Given the description of an element on the screen output the (x, y) to click on. 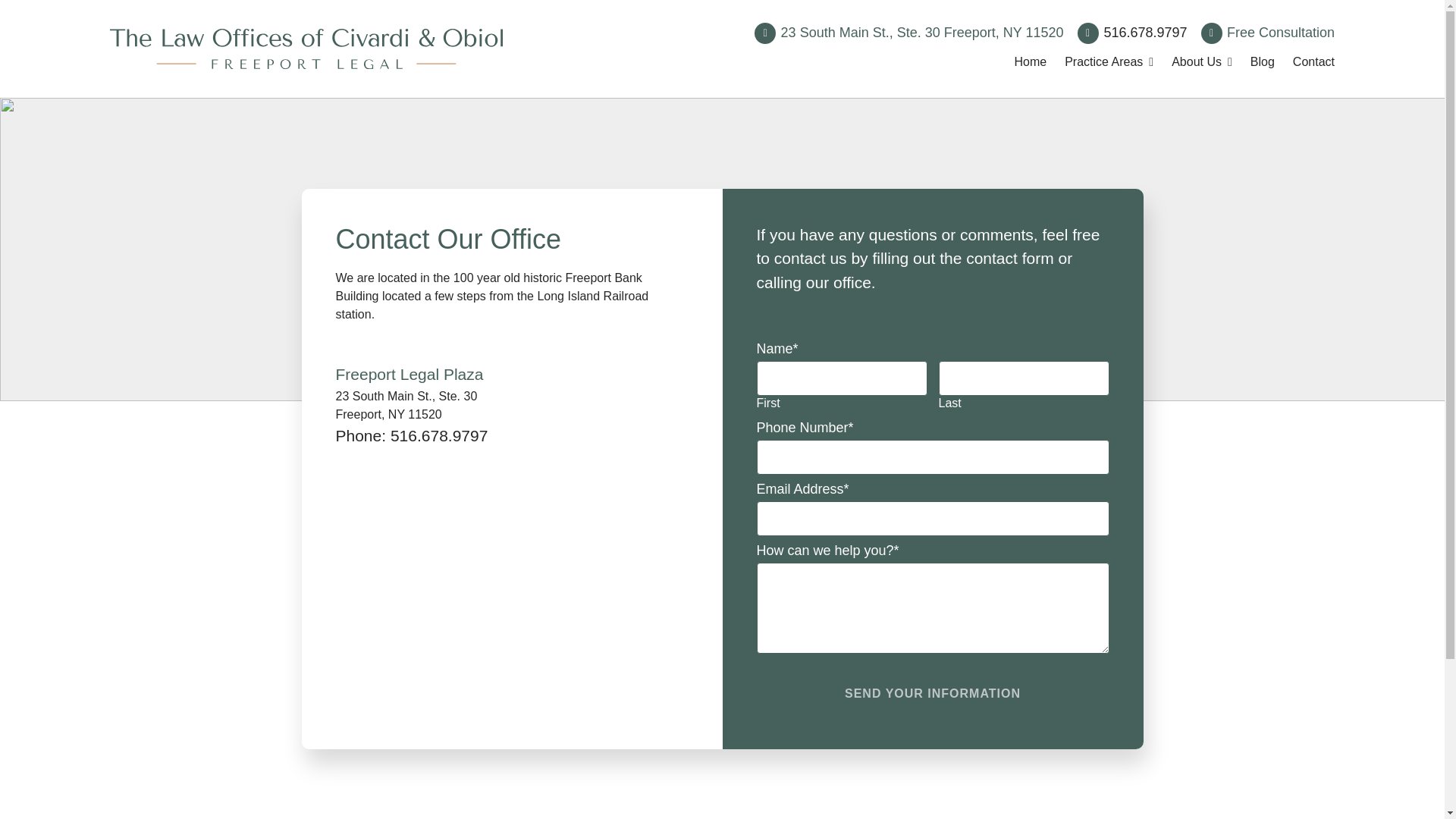
23 South Main St., Ste. 30 Freeport, NY 11520 (908, 33)
Blog (1262, 59)
About Us (1201, 59)
SEND YOUR INFORMATION (933, 692)
516.678.9797 (1132, 33)
Practice Areas (1108, 59)
Free Consultation (438, 435)
Home (1268, 33)
Return home (1029, 59)
